Given the description of an element on the screen output the (x, y) to click on. 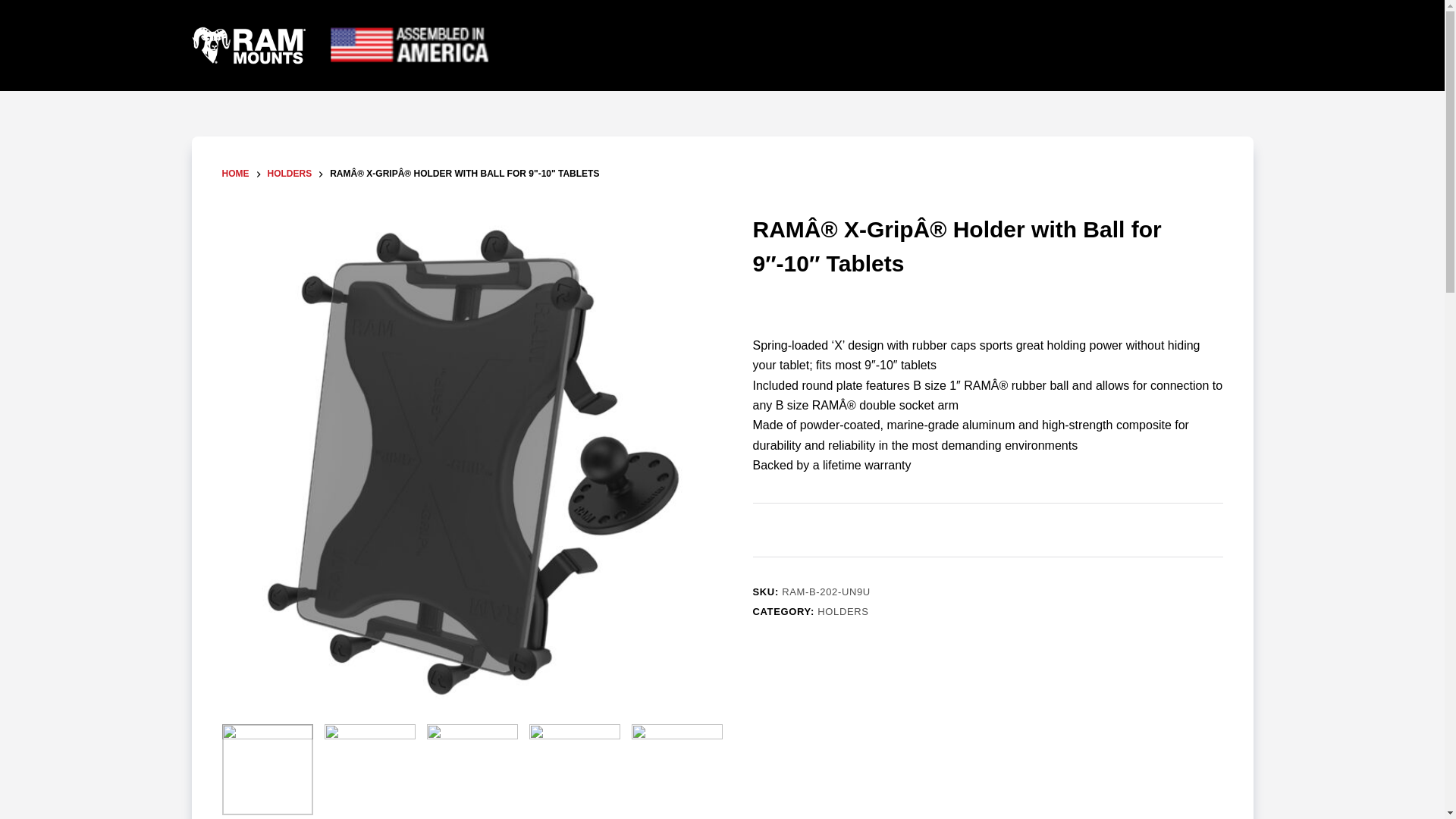
RAM-B-202-UN9U (369, 768)
RAM-B-202-UN9UIU1 (574, 768)
RAM-B-202-UN9U (267, 768)
RAM-B-202-UN9U (676, 768)
Skip to content (15, 7)
RAM-B-202-UN9UIU1 (471, 768)
